Given the description of an element on the screen output the (x, y) to click on. 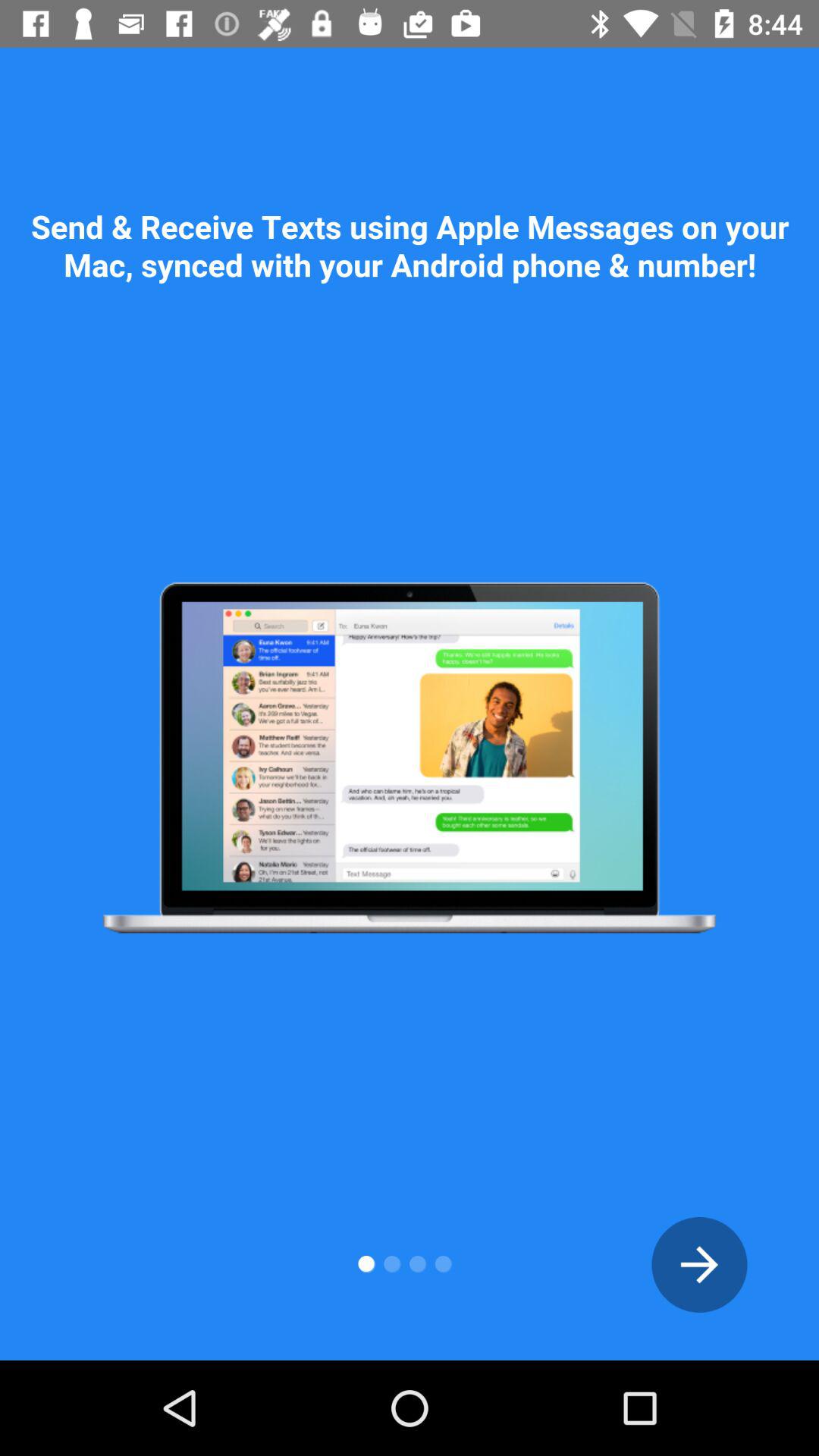
back (699, 1264)
